Given the description of an element on the screen output the (x, y) to click on. 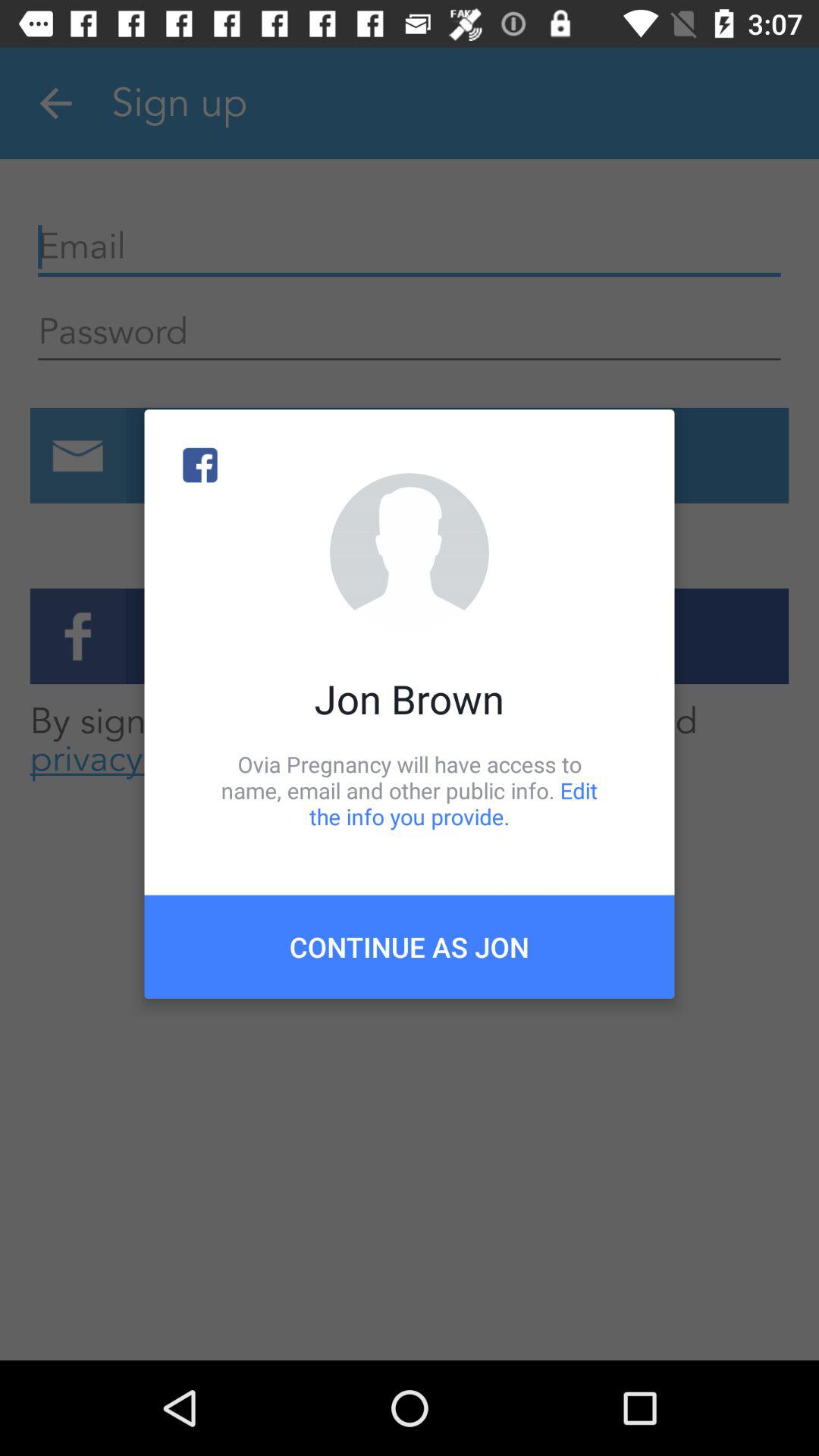
launch item below ovia pregnancy will item (409, 946)
